Given the description of an element on the screen output the (x, y) to click on. 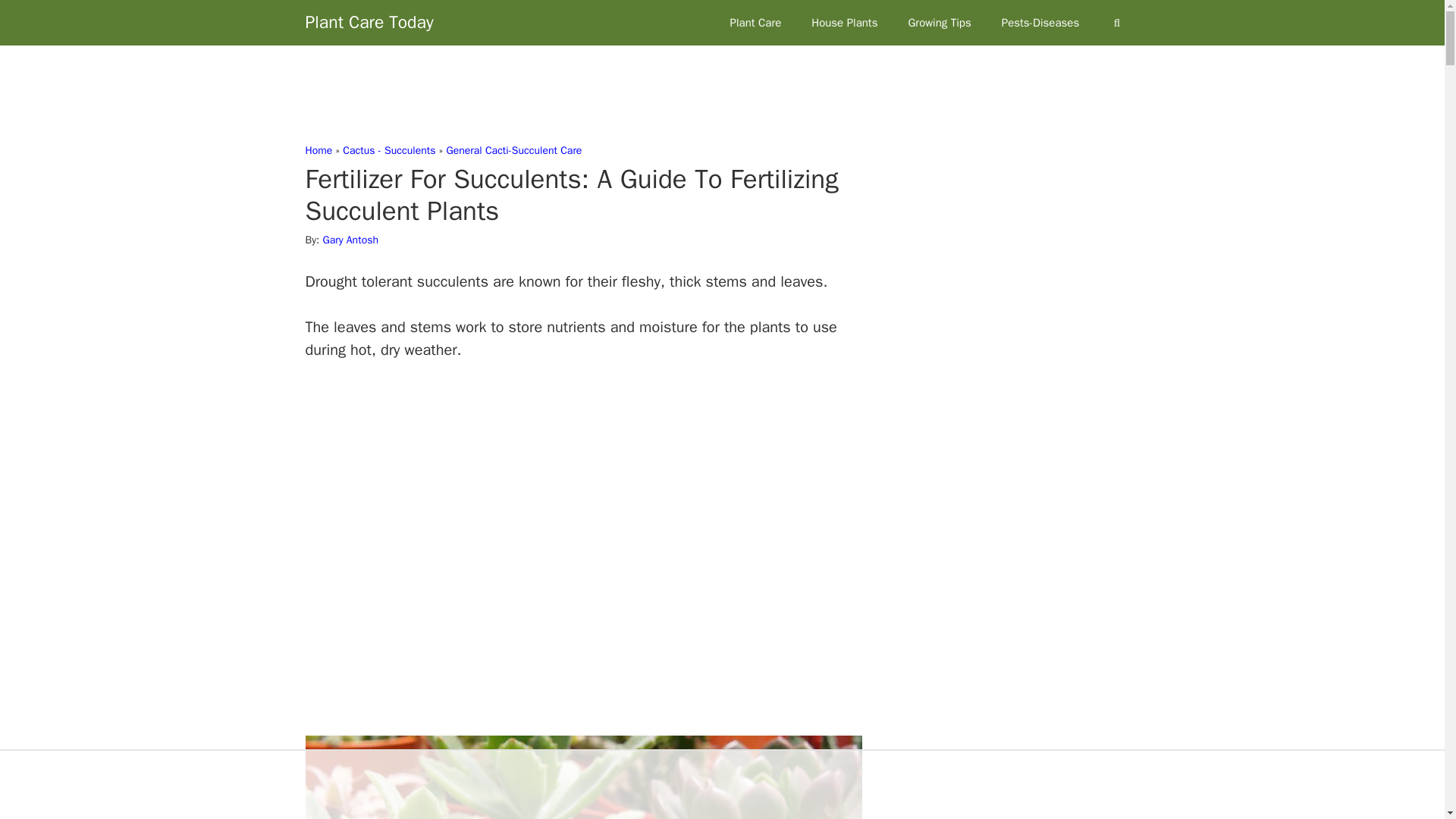
Cactus - Succulents (388, 150)
Plant Care (755, 22)
Growing Tips (938, 22)
Gary Antosh (349, 239)
Pests-Diseases (1040, 22)
House Plants (844, 22)
General Cacti-Succulent Care (512, 150)
Plant Care Today (368, 22)
Home (317, 150)
